Given the description of an element on the screen output the (x, y) to click on. 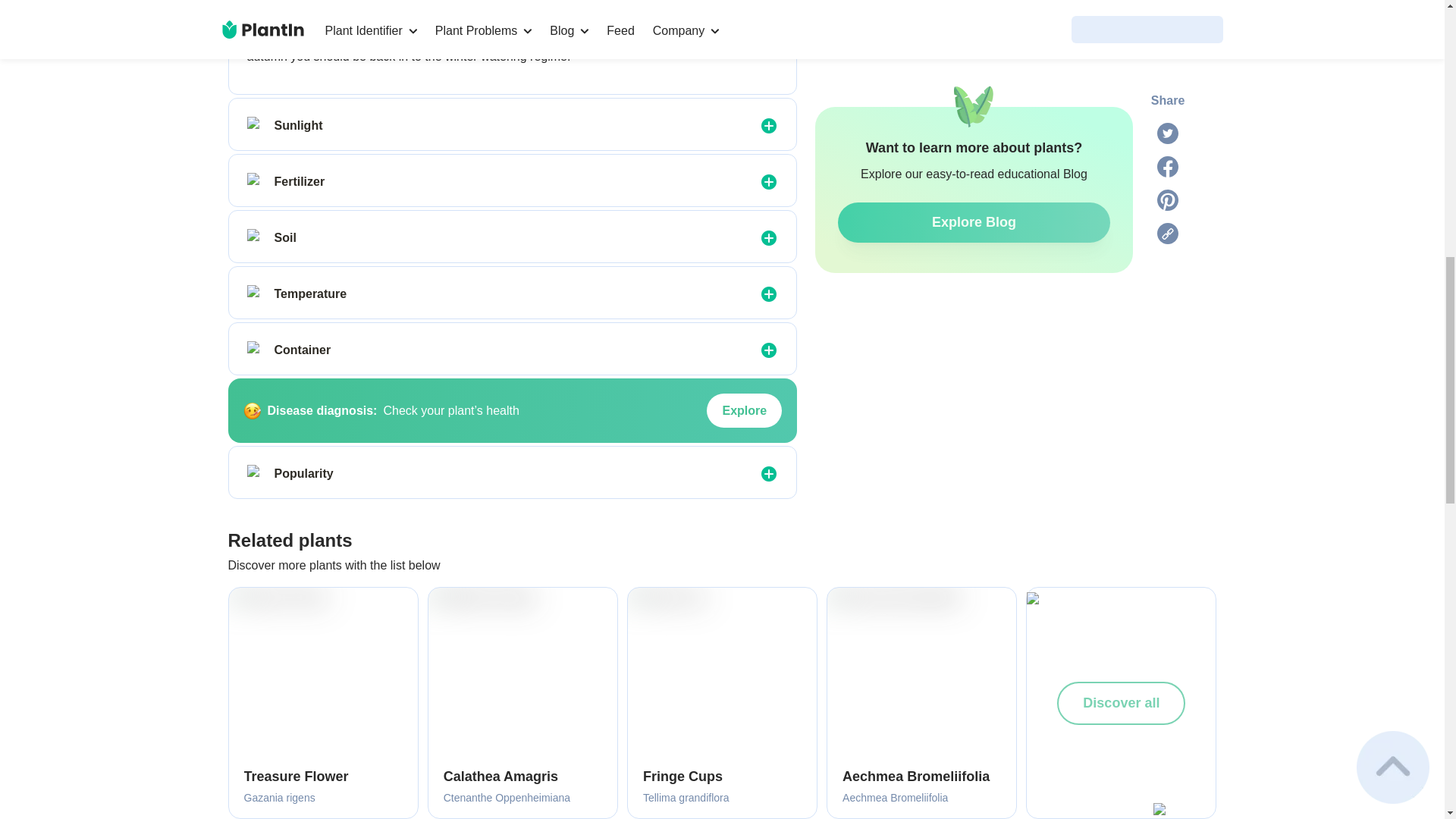
Explore Blog (973, 7)
Popularity (255, 474)
Soil (255, 238)
Temperature (255, 294)
Container (255, 350)
Explore (743, 410)
Fertilizer (255, 181)
Sunlight (255, 126)
